Given the description of an element on the screen output the (x, y) to click on. 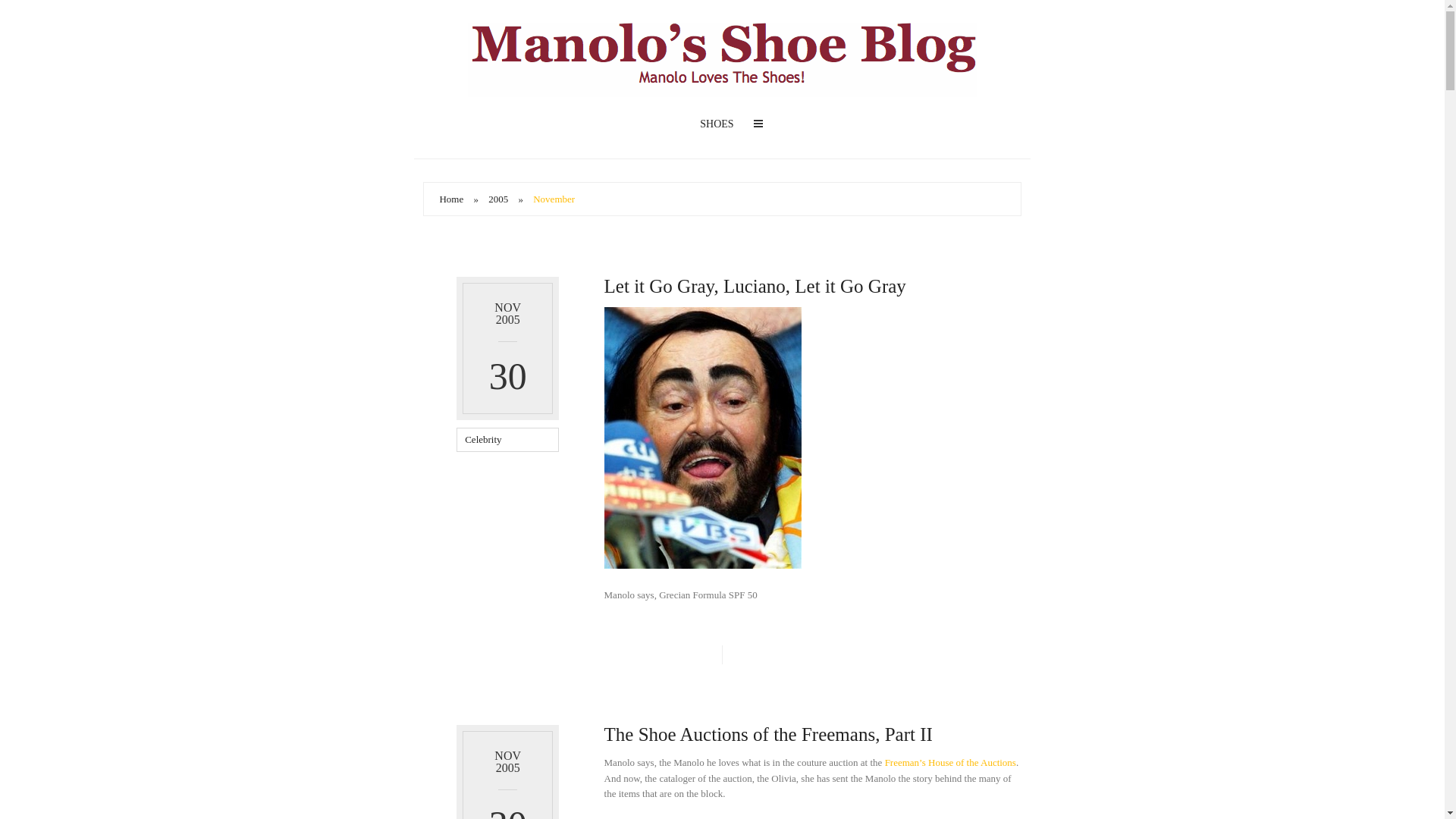
Let it Go Gray, Luciano, Let it Go Gray (754, 286)
The Shoe Auctions of the Freemans, Part II (768, 733)
